Given the description of an element on the screen output the (x, y) to click on. 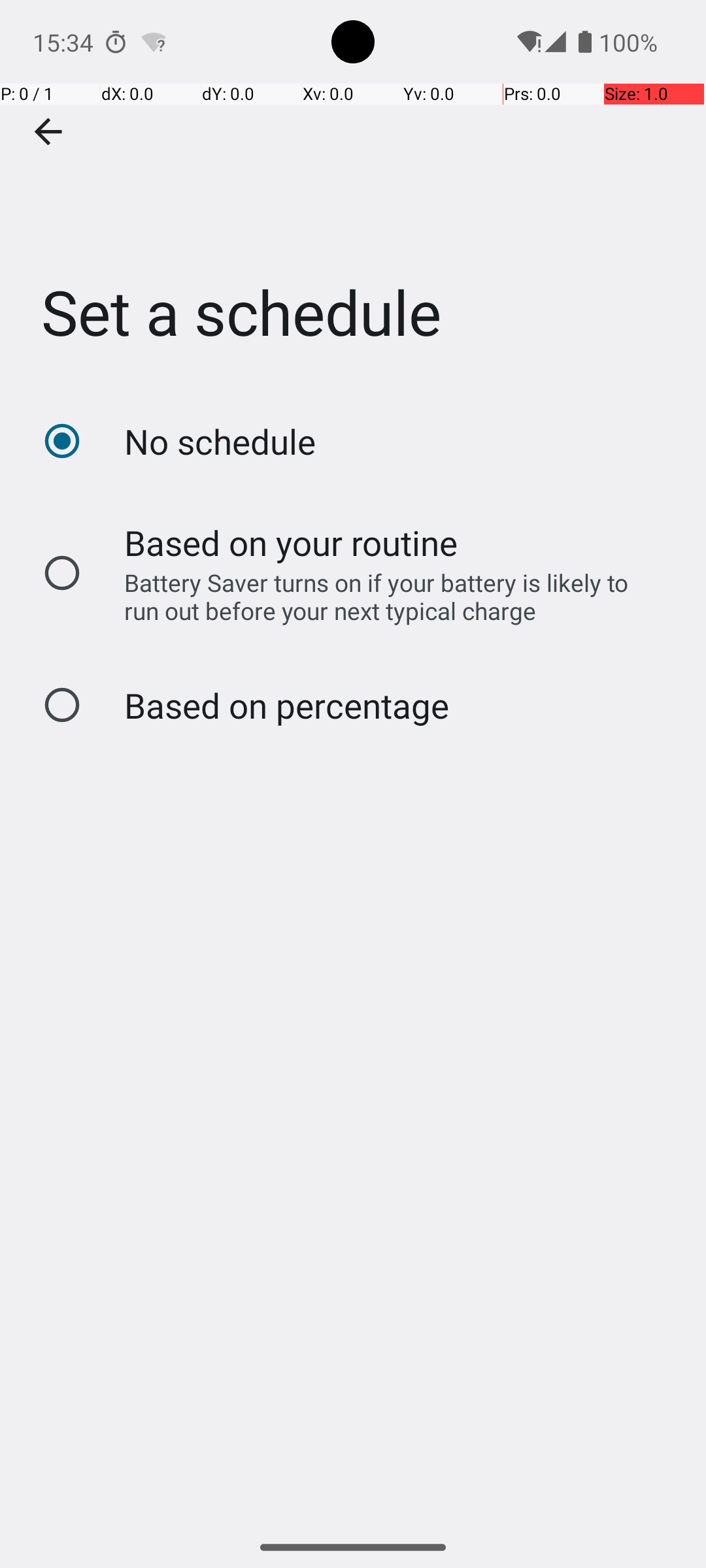
Set a schedule Element type: android.widget.FrameLayout (353, 195)
No schedule Element type: android.widget.TextView (219, 441)
Based on your routine Element type: android.widget.TextView (291, 542)
Battery Saver turns on if your battery is likely to run out before your next typical charge Element type: android.widget.TextView (387, 596)
Based on percentage Element type: android.widget.TextView (286, 705)
